Given the description of an element on the screen output the (x, y) to click on. 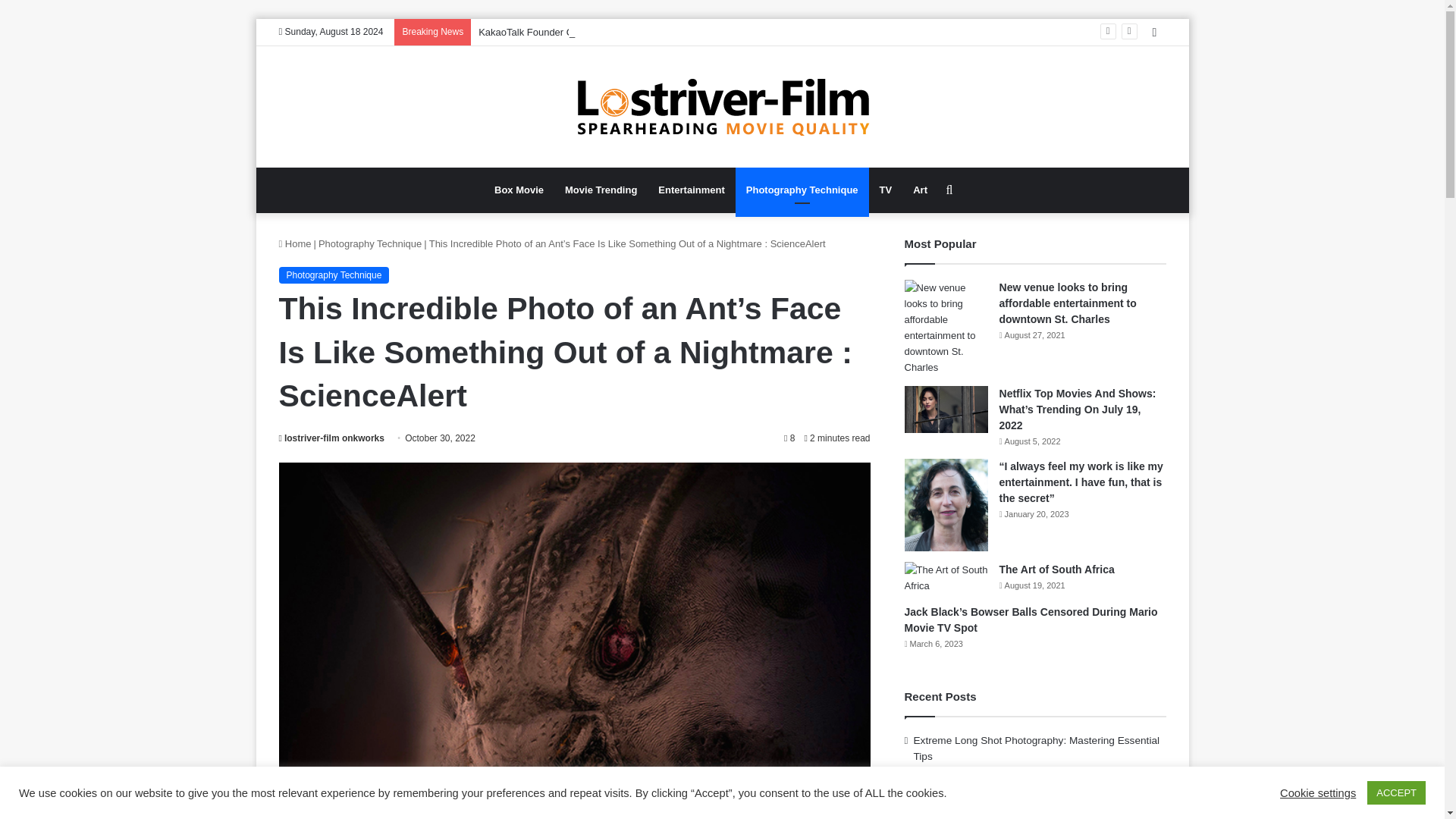
Entertainment (691, 189)
Photography Technique (802, 189)
Movie Trending (600, 189)
Box Movie (518, 189)
Photography Technique (334, 274)
lostriver-film onkworks (331, 438)
Photography Technique (370, 243)
Home (295, 243)
